Given the description of an element on the screen output the (x, y) to click on. 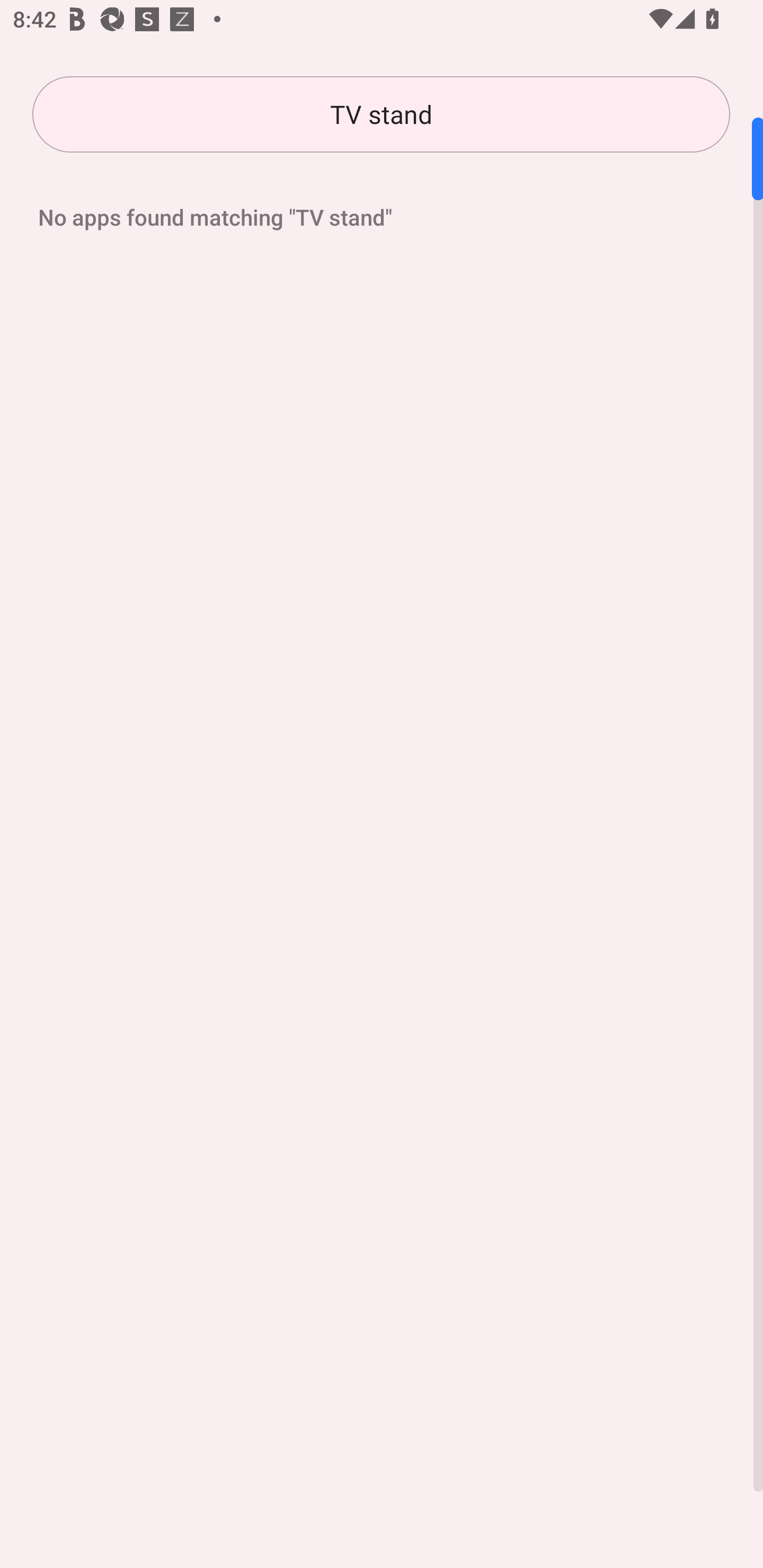
TV stand (381, 114)
